Given the description of an element on the screen output the (x, y) to click on. 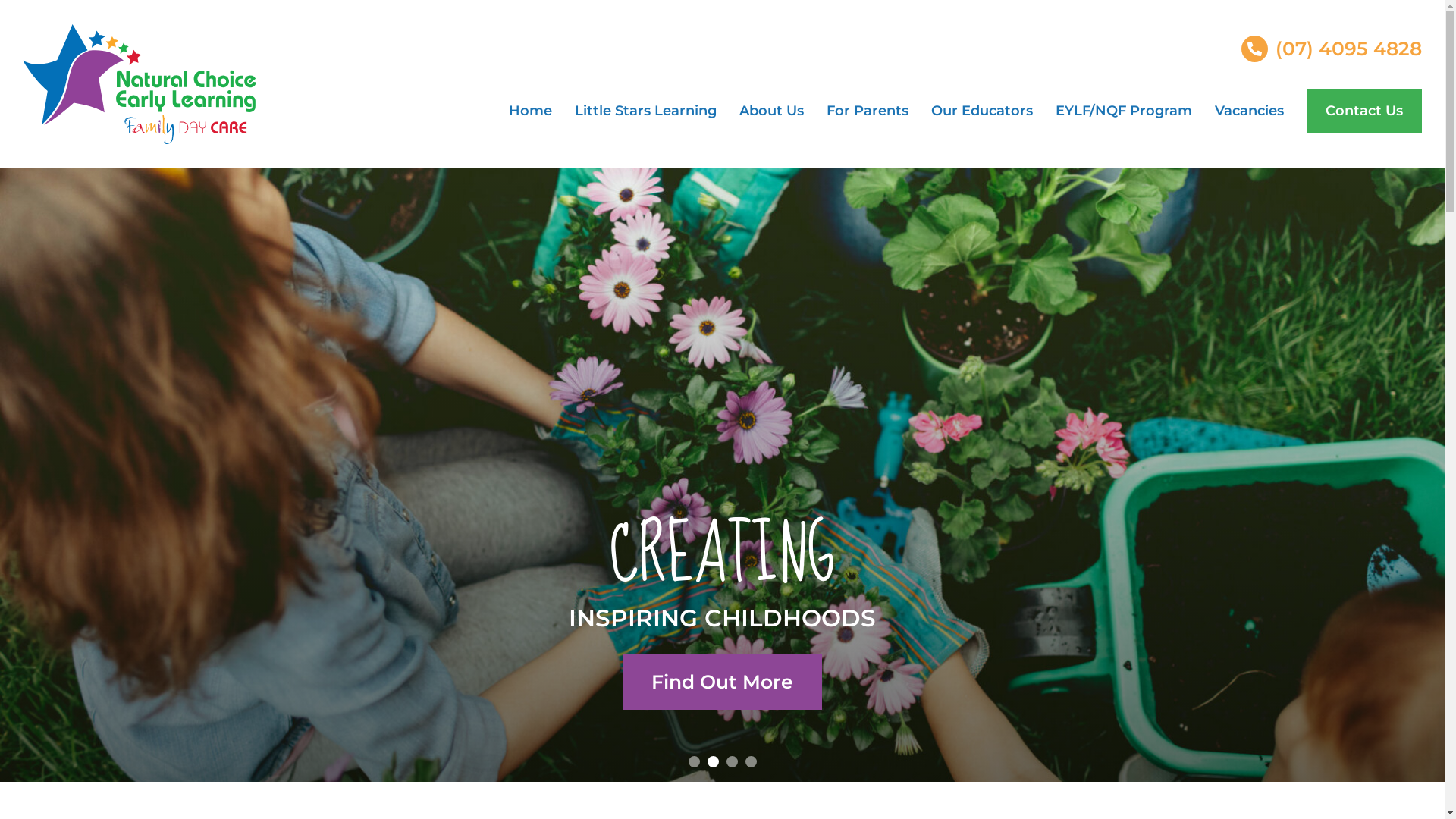
Home Element type: text (530, 110)
Our Educators Element type: text (981, 110)
Vacancies Element type: text (1249, 110)
EYLF/NQF Program Element type: text (1123, 110)
(07) 4095 4828 Element type: text (1331, 47)
Find Out More Element type: text (722, 682)
Little Stars Learning Element type: text (645, 110)
About Us Element type: text (771, 110)
Contact Us Element type: text (1363, 110)
For Parents Element type: text (867, 110)
